Given the description of an element on the screen output the (x, y) to click on. 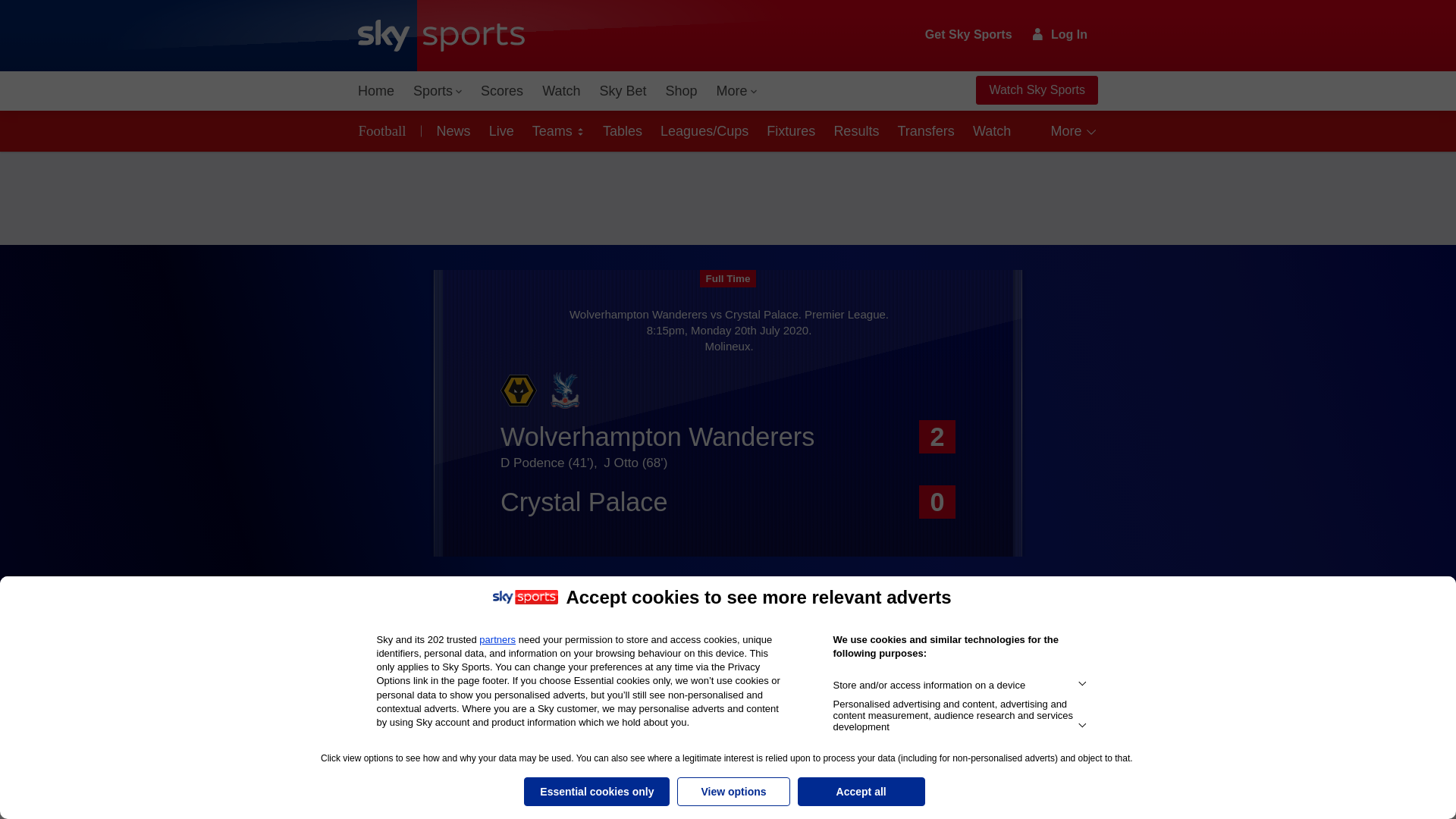
More (736, 91)
Get Sky Sports (968, 34)
Scores (502, 91)
Sports (437, 91)
Log In (1060, 33)
Watch (561, 91)
Watch Sky Sports (1036, 90)
Football (385, 130)
Shop (681, 91)
Home (375, 91)
